Given the description of an element on the screen output the (x, y) to click on. 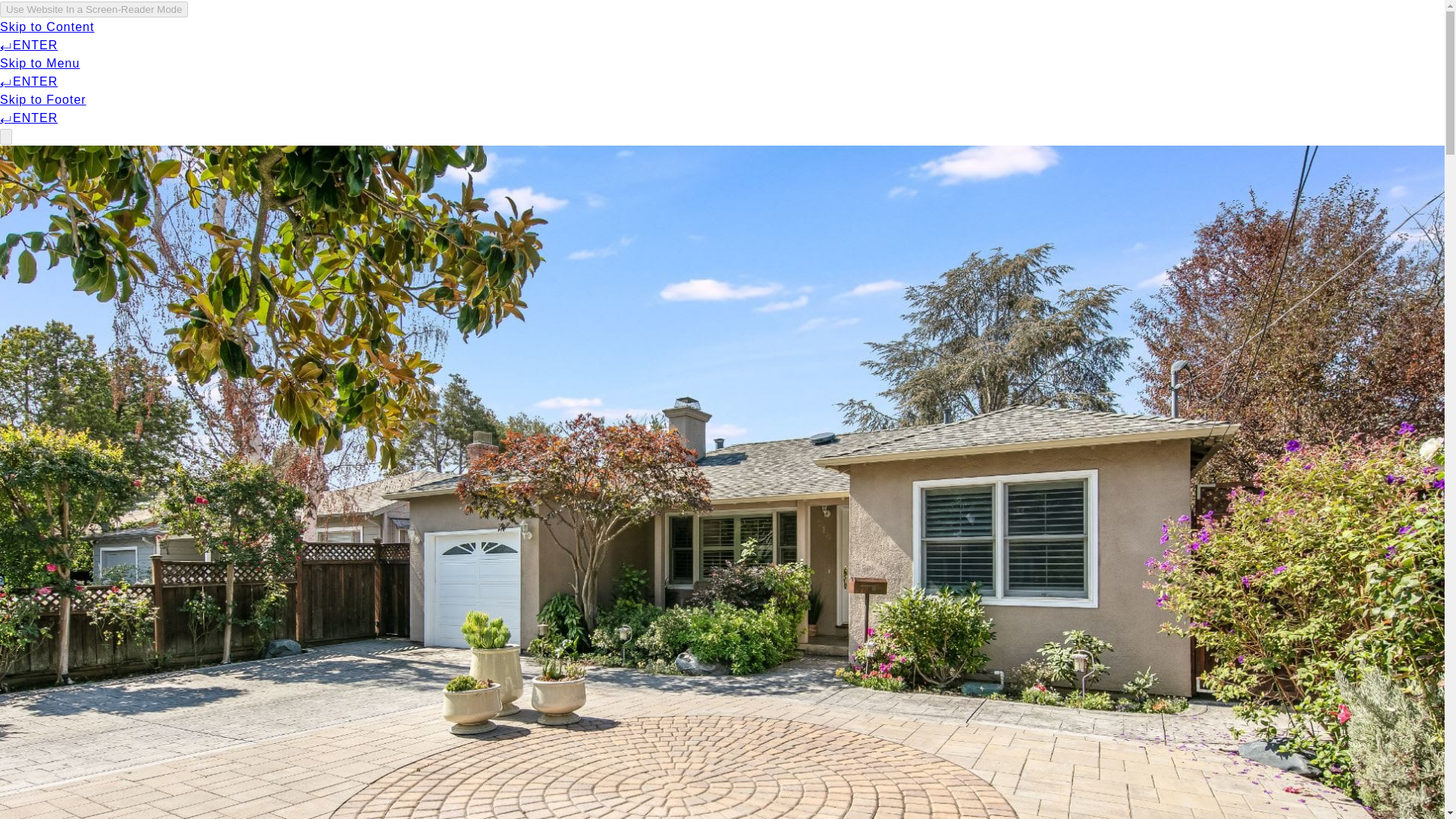
Menu (187, 35)
Menu (197, 35)
Home Valuation (417, 35)
Let'S Connect (1113, 35)
Past Transactions (291, 35)
